Given the description of an element on the screen output the (x, y) to click on. 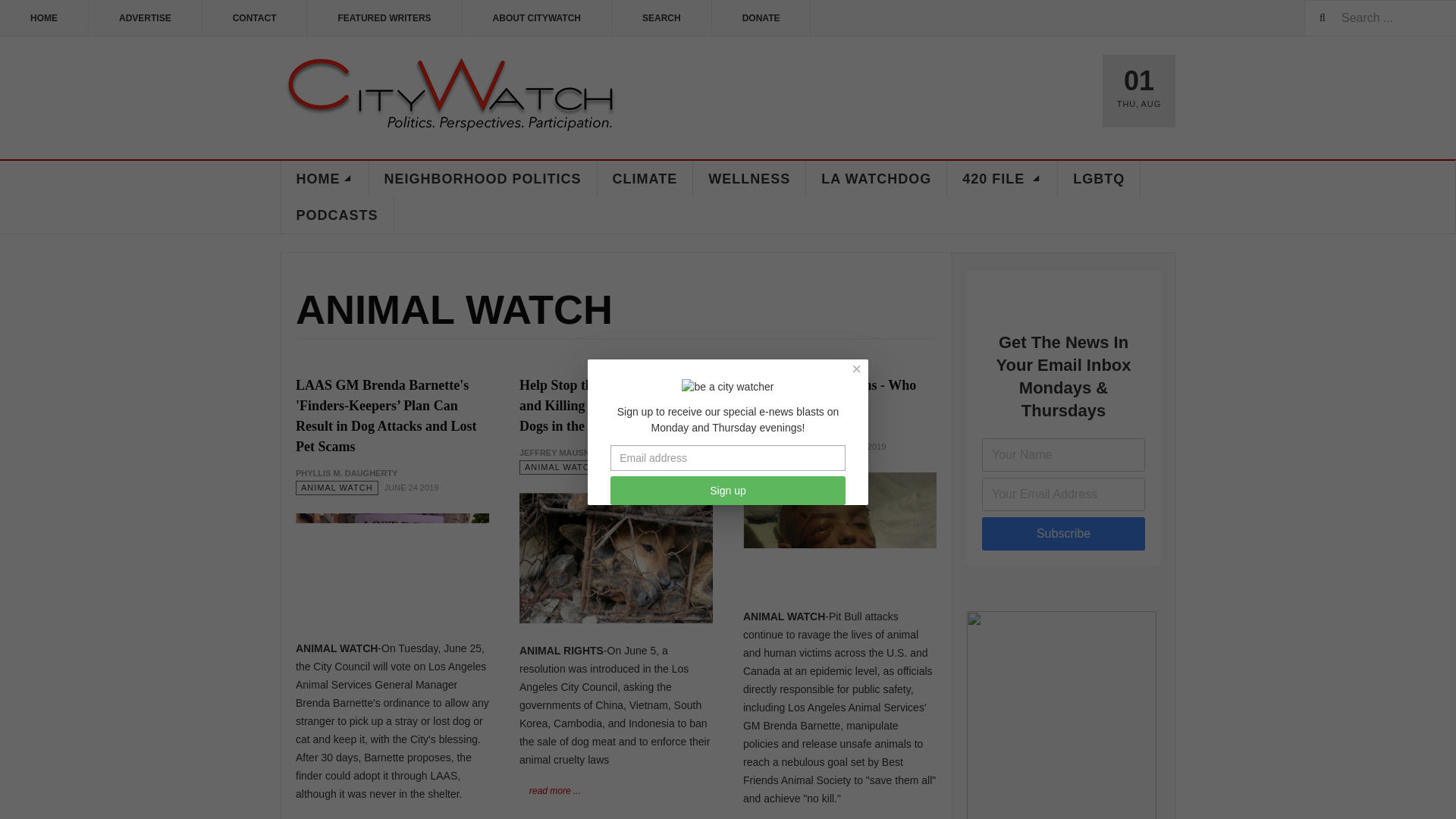
Written by  (346, 473)
DONATE (760, 18)
ABOUT CITYWATCH (537, 18)
Category:  (783, 446)
Written by  (560, 452)
HOME (44, 18)
CLIMATE (645, 178)
SEARCH (661, 18)
ADVERTISE (145, 18)
Category:  (336, 487)
Category:  (560, 467)
CityWatch Los Angeles (451, 94)
PODCASTS (337, 215)
NEIGHBORHOOD POLITICS (482, 178)
WELLNESS (749, 178)
